Given the description of an element on the screen output the (x, y) to click on. 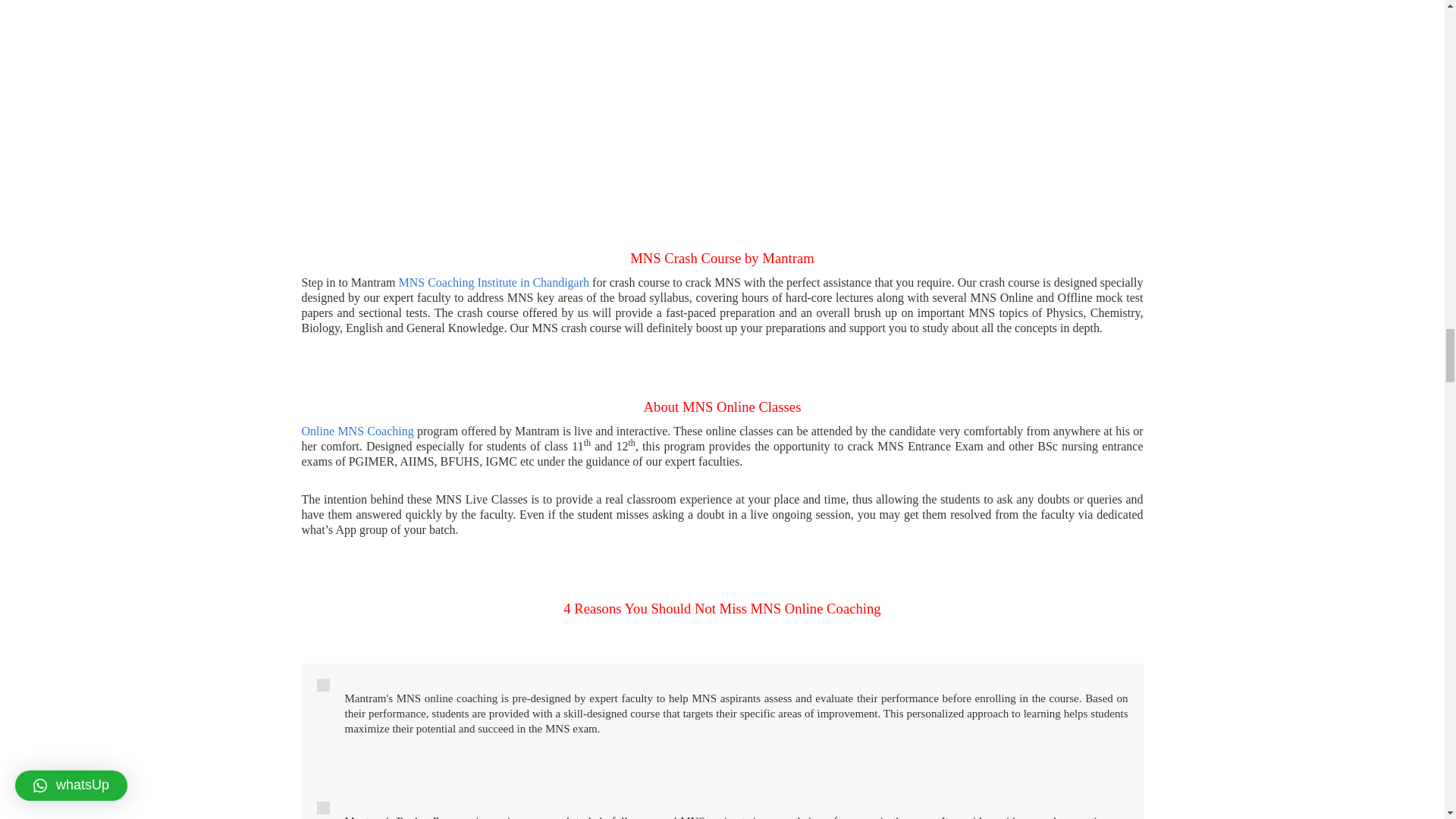
MNS Coaching Institute in Chandigarh (493, 282)
Online MNS Coaching (357, 431)
